Given the description of an element on the screen output the (x, y) to click on. 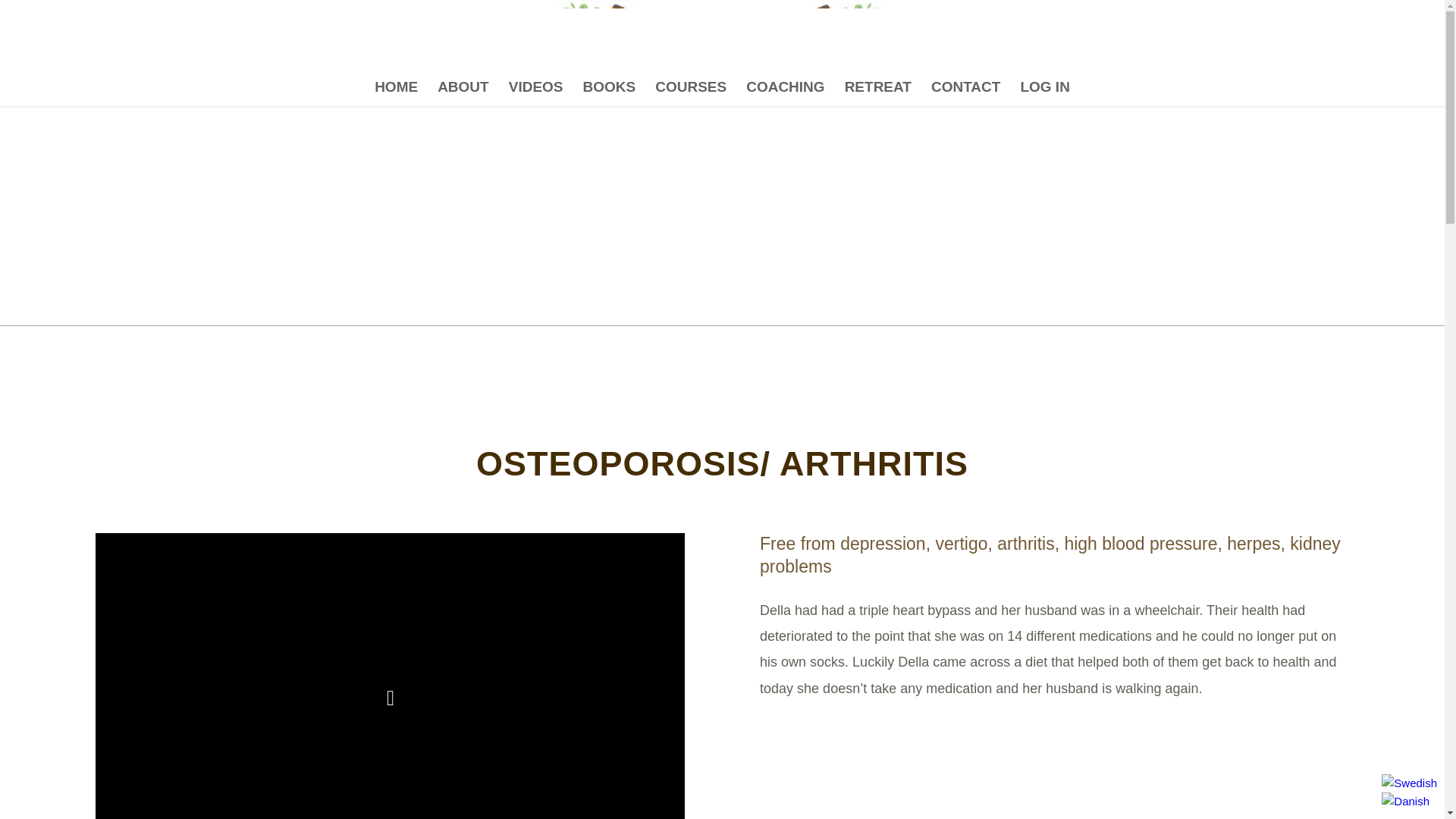
BOOKS (609, 86)
HOME (396, 86)
CONTACT (965, 86)
COACHING (785, 86)
LOG IN (1044, 86)
Swedish  (1409, 782)
Danish  (1405, 801)
VIDEOS (536, 86)
RETREAT (877, 86)
COURSES (690, 86)
